Given the description of an element on the screen output the (x, y) to click on. 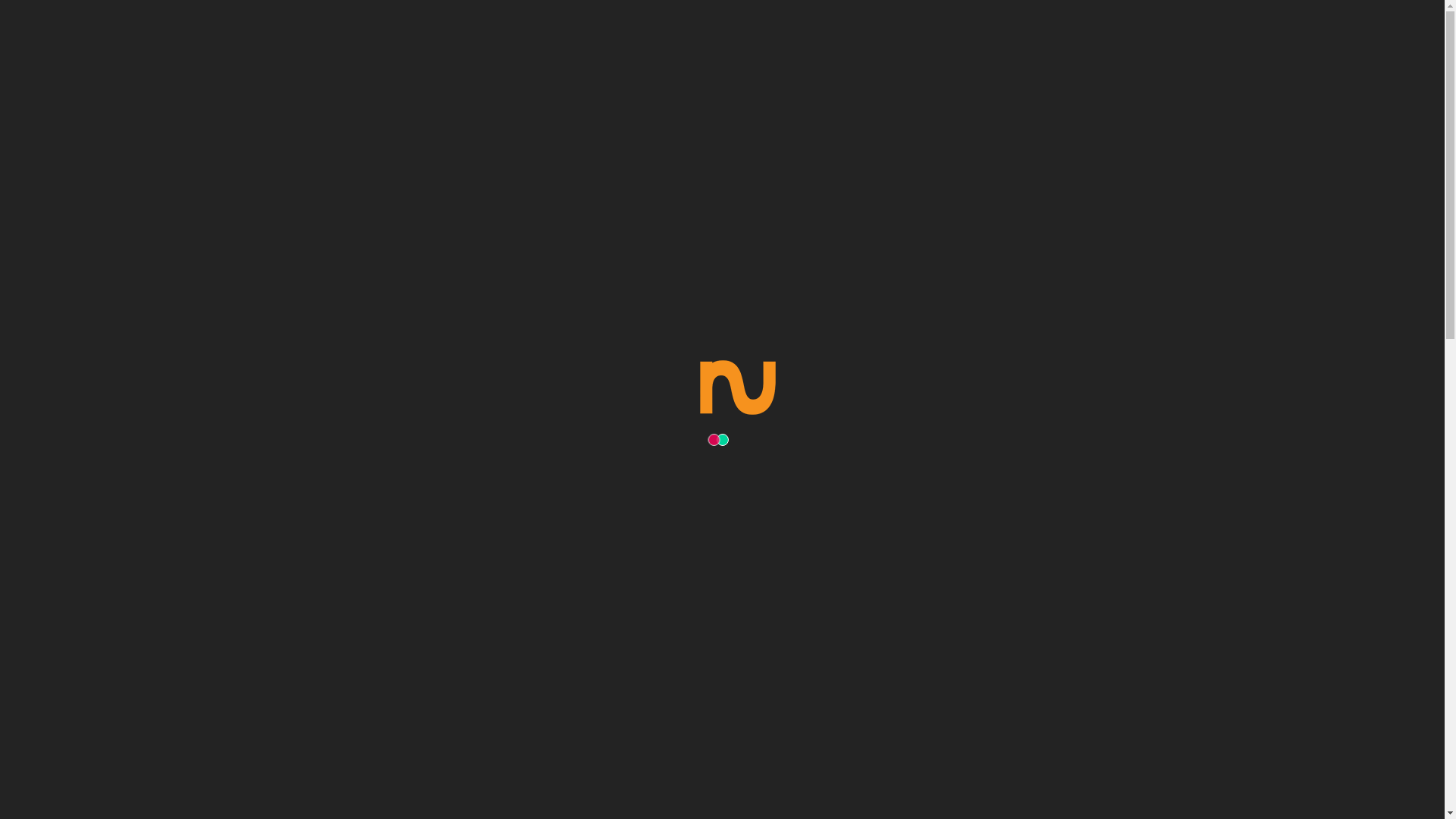
Home Element type: text (666, 273)
Nuapp Productions - App Developers - St Kilda Element type: hover (327, 39)
